Given the description of an element on the screen output the (x, y) to click on. 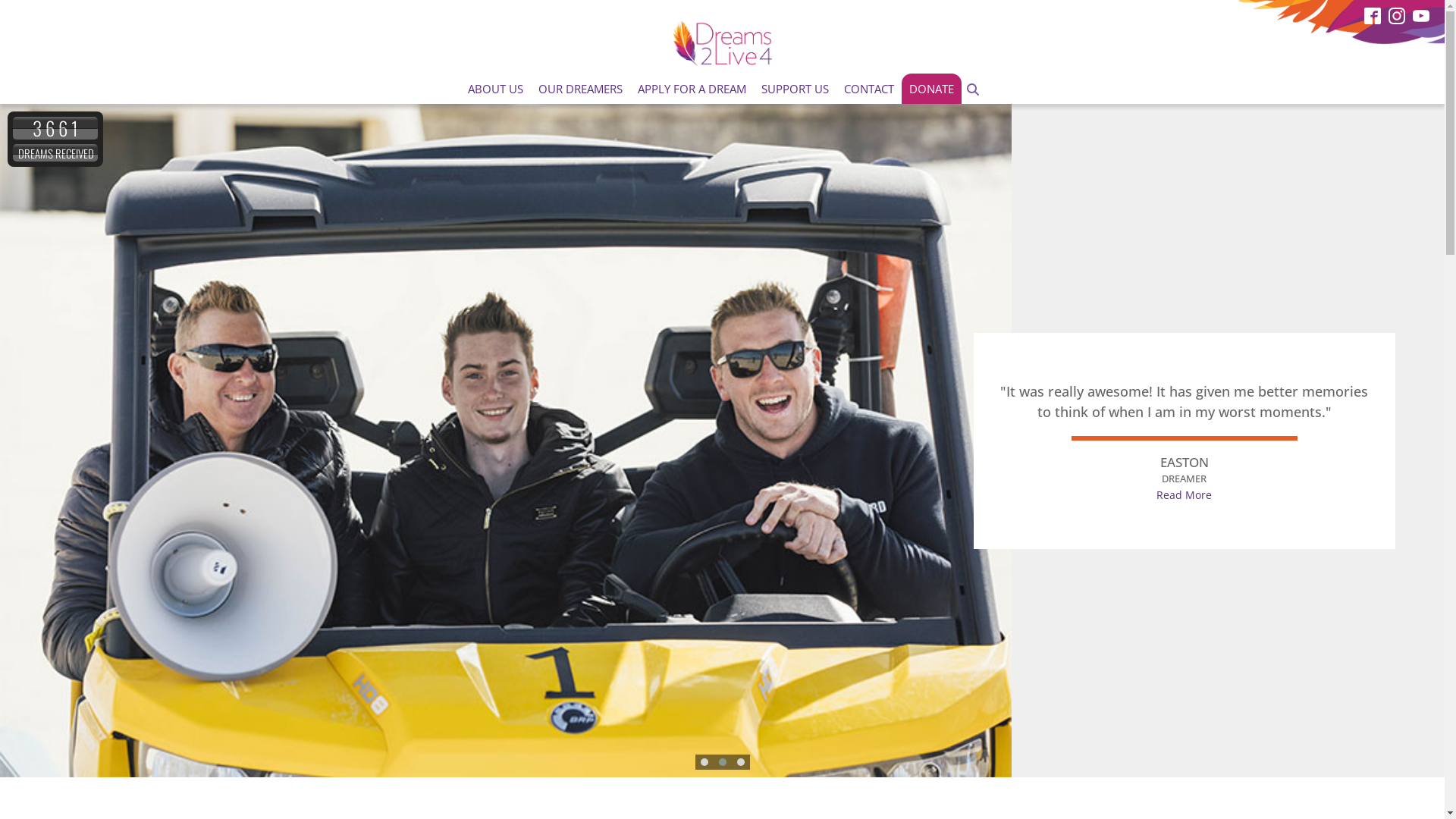
OUR DREAMERS Element type: text (580, 88)
APPLY FOR A DREAM Element type: text (691, 88)
SUPPORT US Element type: text (794, 88)
DONATE Element type: text (931, 88)
Search Element type: text (11, 9)
ABOUT US Element type: text (495, 88)
CONTACT Element type: text (868, 88)
